Given the description of an element on the screen output the (x, y) to click on. 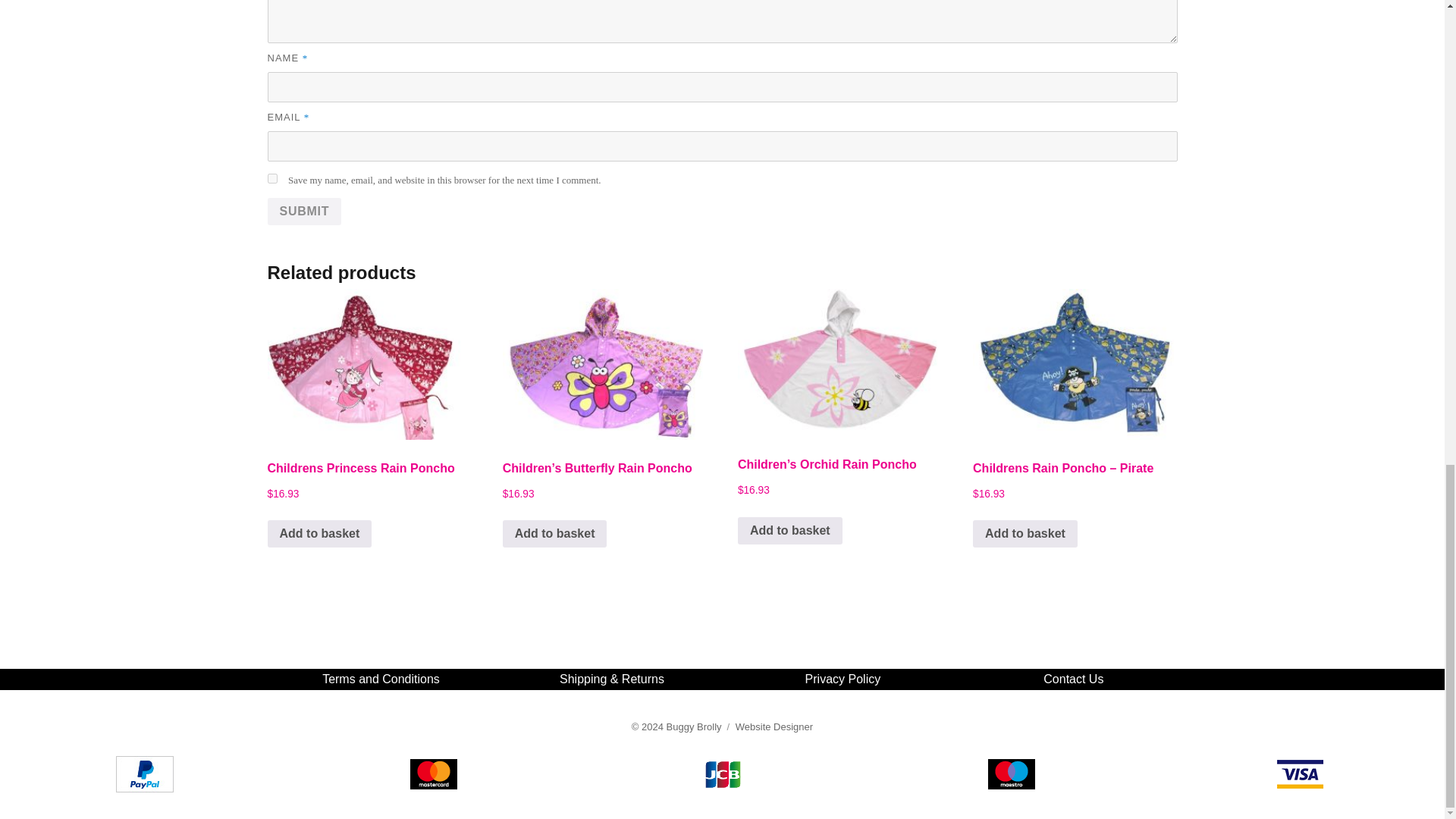
Add to basket (554, 533)
Add to basket (318, 533)
yes (271, 178)
Add to basket (790, 530)
Submit (303, 211)
Add to basket (1024, 533)
Terms and Conditions (380, 678)
Submit (303, 211)
